Given the description of an element on the screen output the (x, y) to click on. 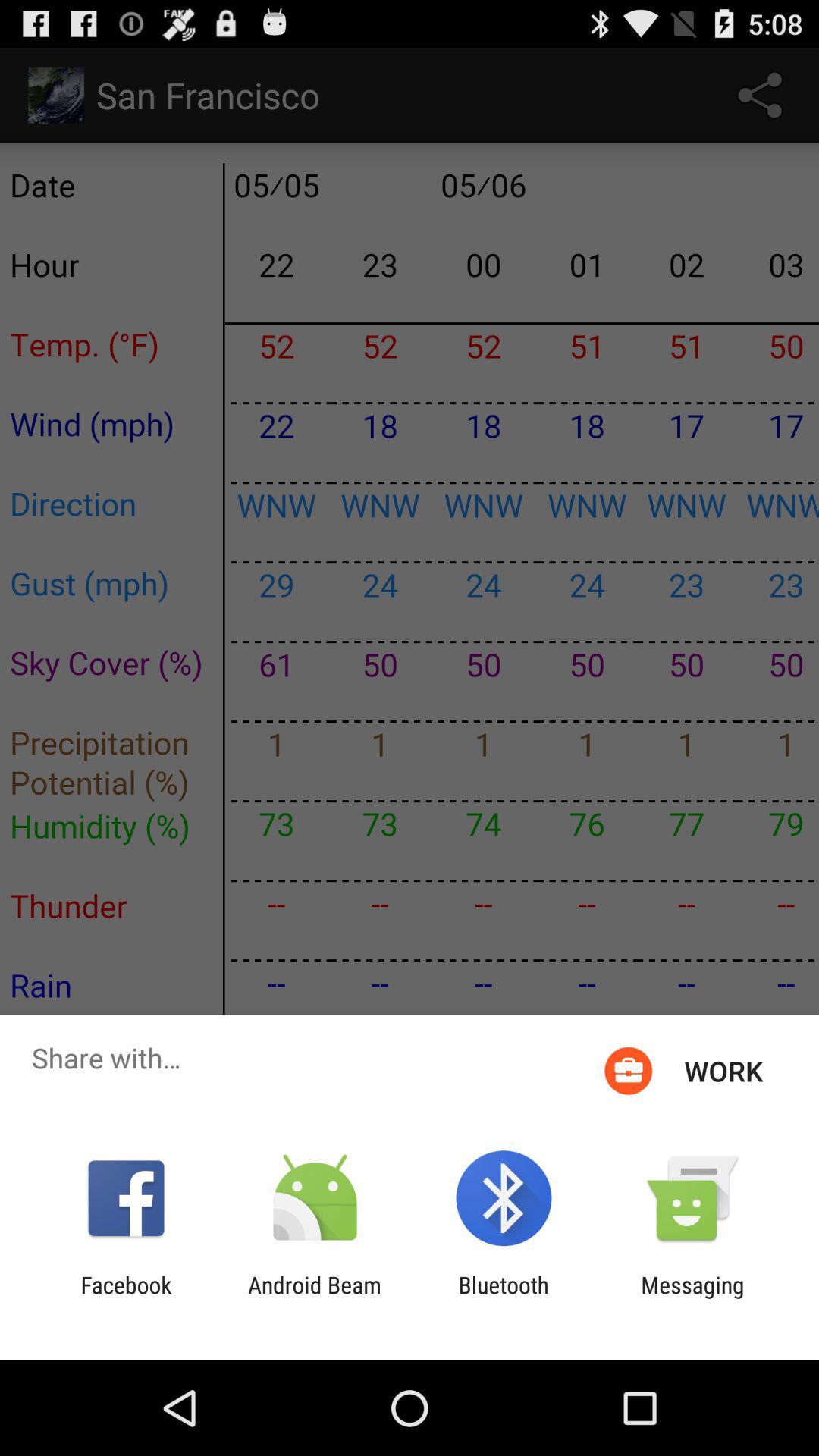
scroll until the facebook item (125, 1298)
